Given the description of an element on the screen output the (x, y) to click on. 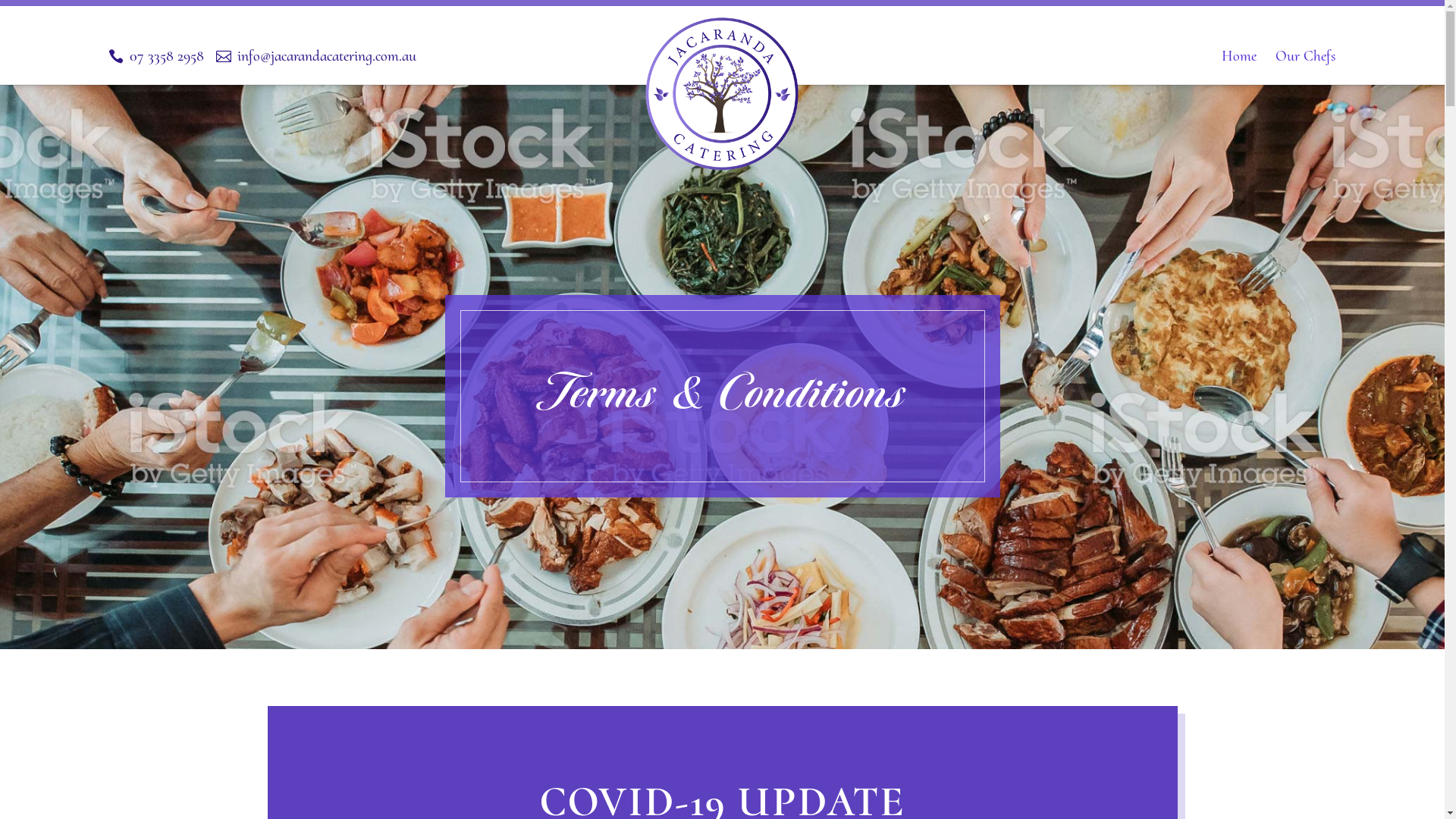
JacarandaCatering-logo-332x332 Element type: hover (722, 94)
07 3358 2958 Element type: text (155, 56)
Home Element type: text (1238, 56)
info@jacarandacatering.com.au Element type: text (316, 56)
Our Chefs Element type: text (1305, 56)
